Given the description of an element on the screen output the (x, y) to click on. 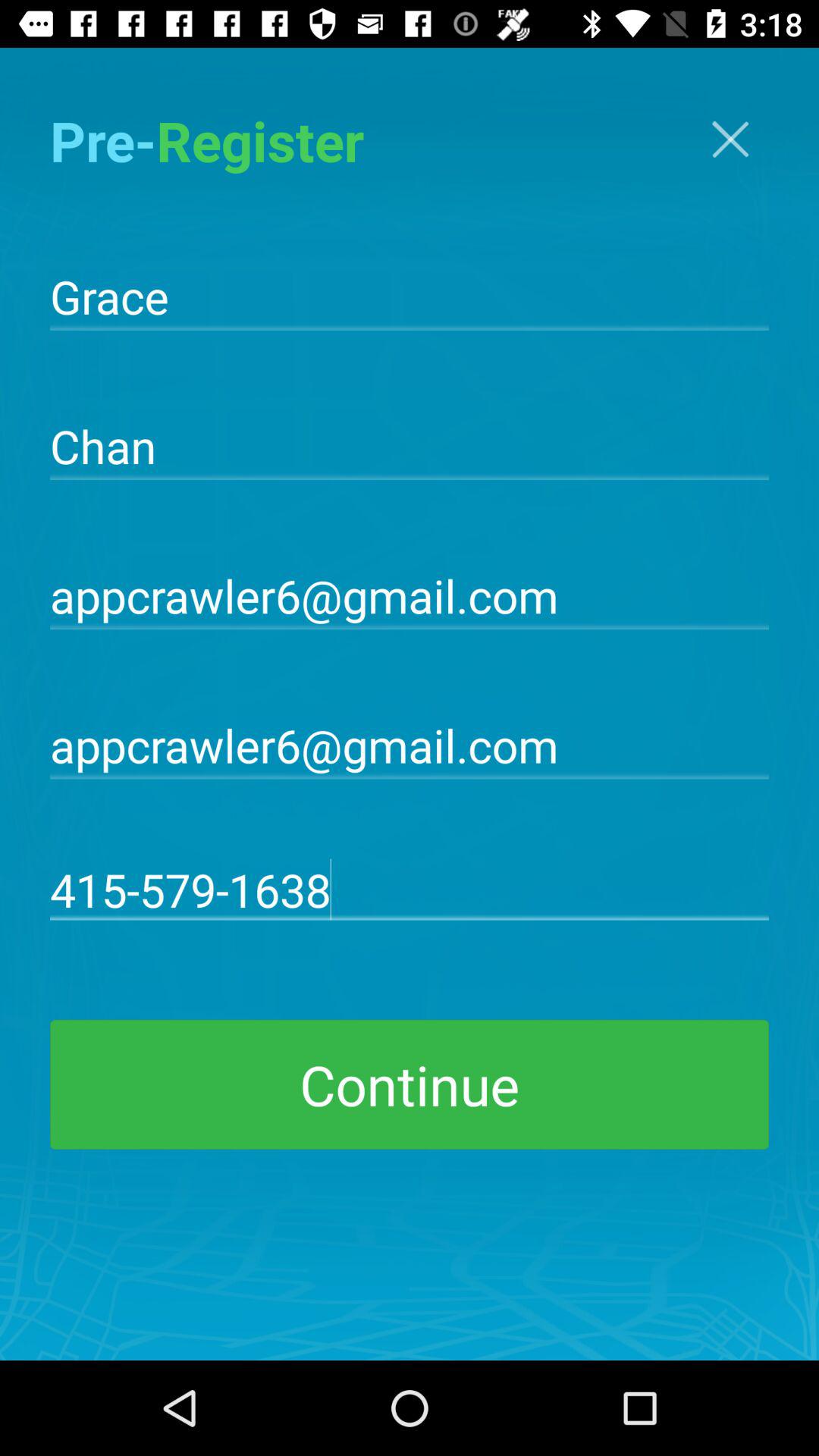
x button (730, 139)
